Given the description of an element on the screen output the (x, y) to click on. 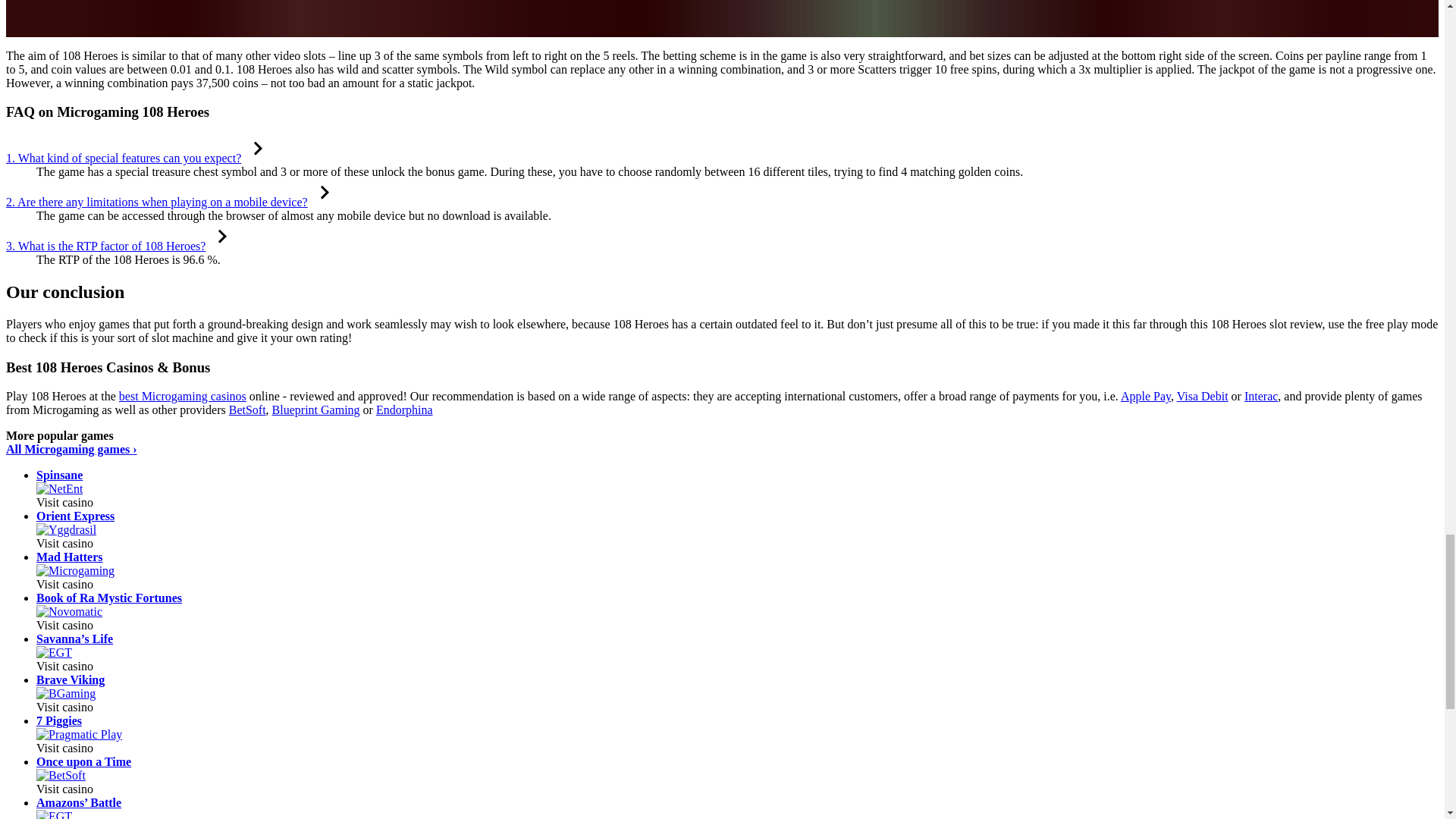
Visa Debit Online Casinos (1202, 395)
BGaming Online Casinos (66, 693)
Apple Pay Online Casinos (1145, 395)
Endorphina Online Casinos (403, 409)
Yggdrasil Online Casinos (66, 529)
Blueprint Gaming Online Casinos (315, 409)
Novomatic Online Casinos (68, 611)
Microgaming Online Casinos (75, 570)
BetSoft Online Casinos (247, 409)
NetEnt Online Casinos (59, 488)
